Given the description of an element on the screen output the (x, y) to click on. 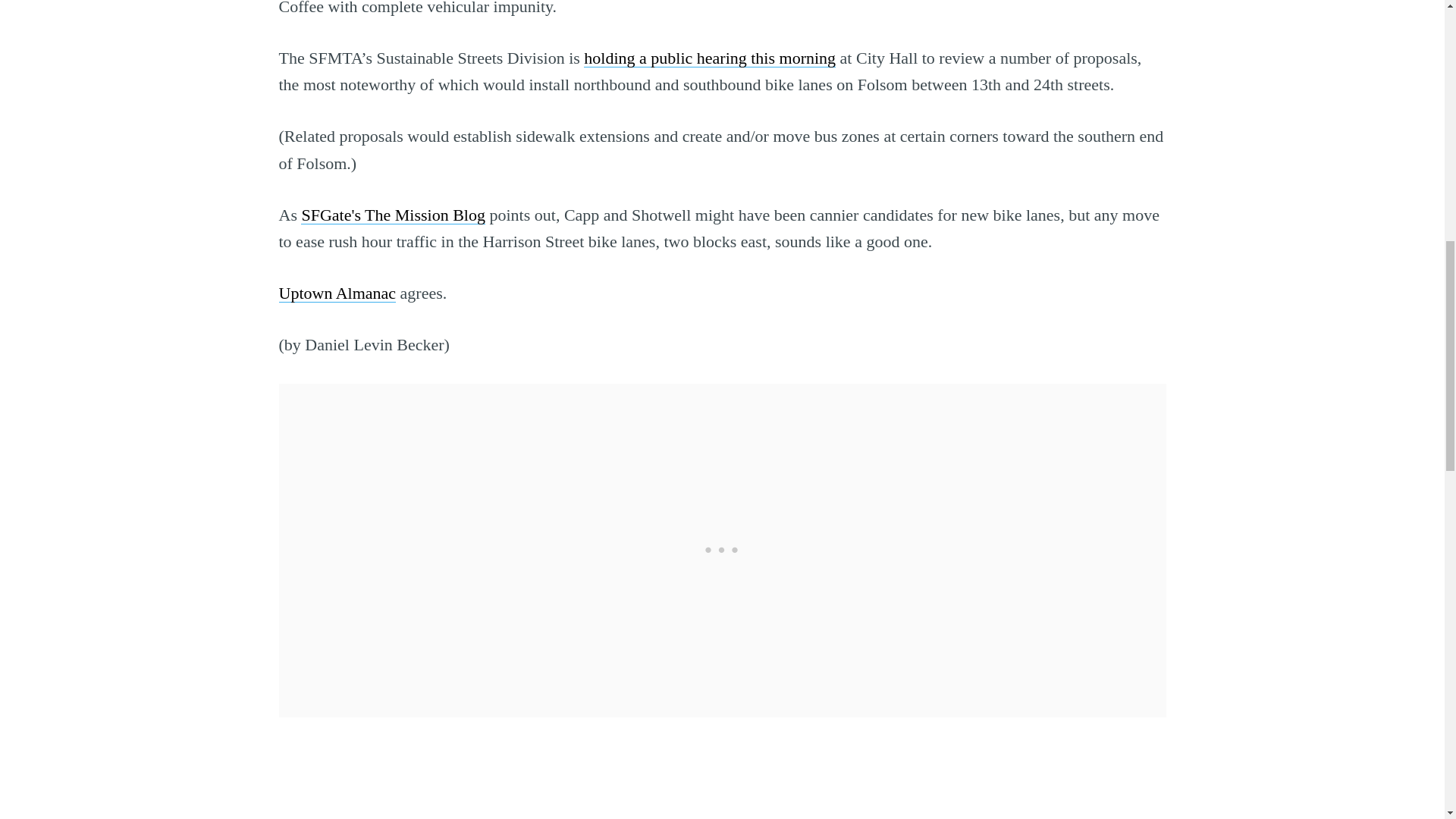
holding a public hearing this morning (709, 57)
Uptown Almanac (337, 292)
SFGate's The Mission Blog (392, 214)
